Given the description of an element on the screen output the (x, y) to click on. 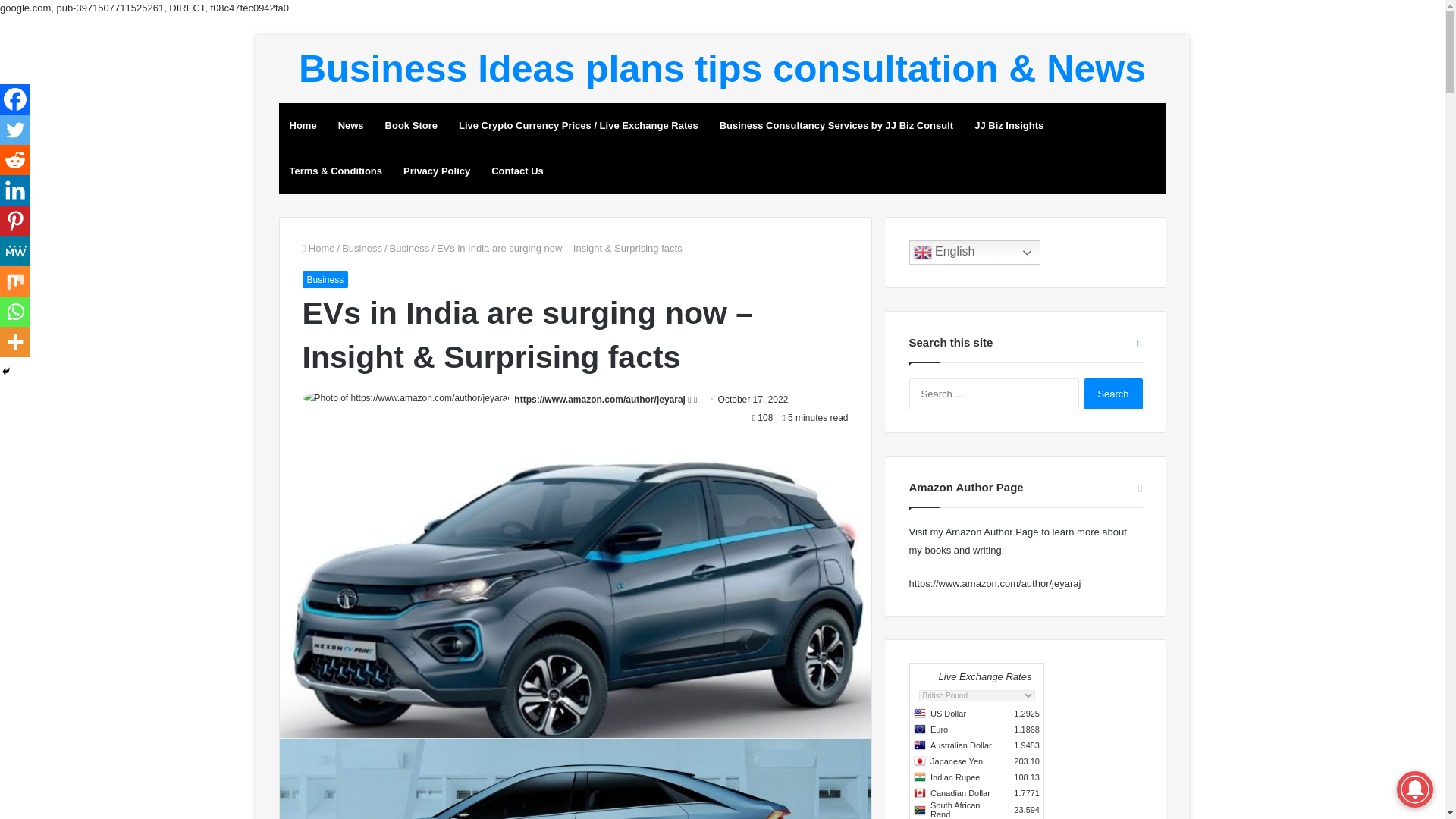
Contact Us (517, 171)
Business (409, 247)
Search (1113, 393)
Business (361, 247)
Search (1113, 393)
Home (317, 247)
Business (324, 279)
Home (303, 125)
JJ Biz Insights (1008, 125)
Privacy Policy (436, 171)
News (350, 125)
Book Store (411, 125)
Business Consultancy Services by JJ Biz Consult (836, 125)
